Given the description of an element on the screen output the (x, y) to click on. 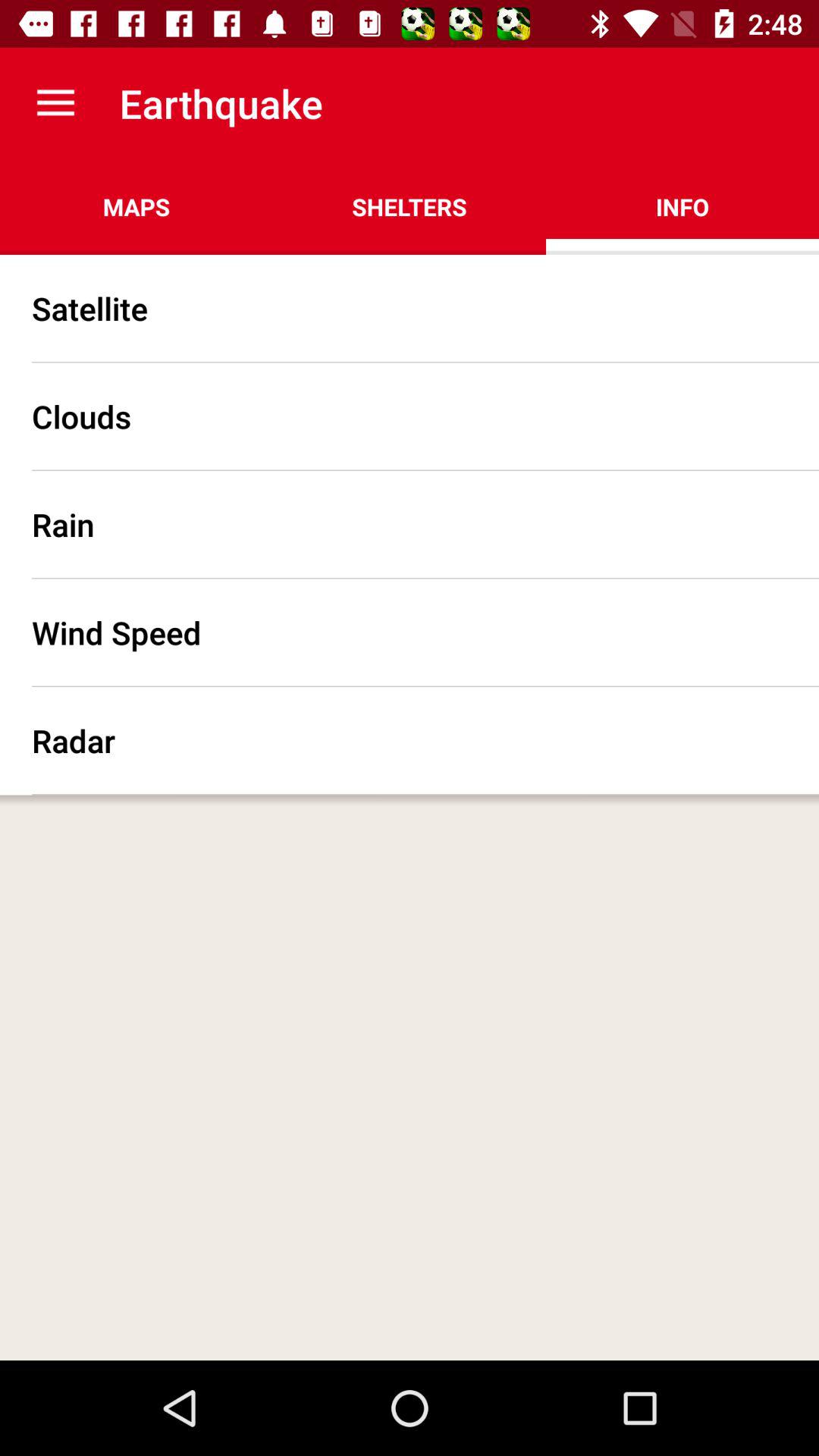
launch the maps item (136, 206)
